Given the description of an element on the screen output the (x, y) to click on. 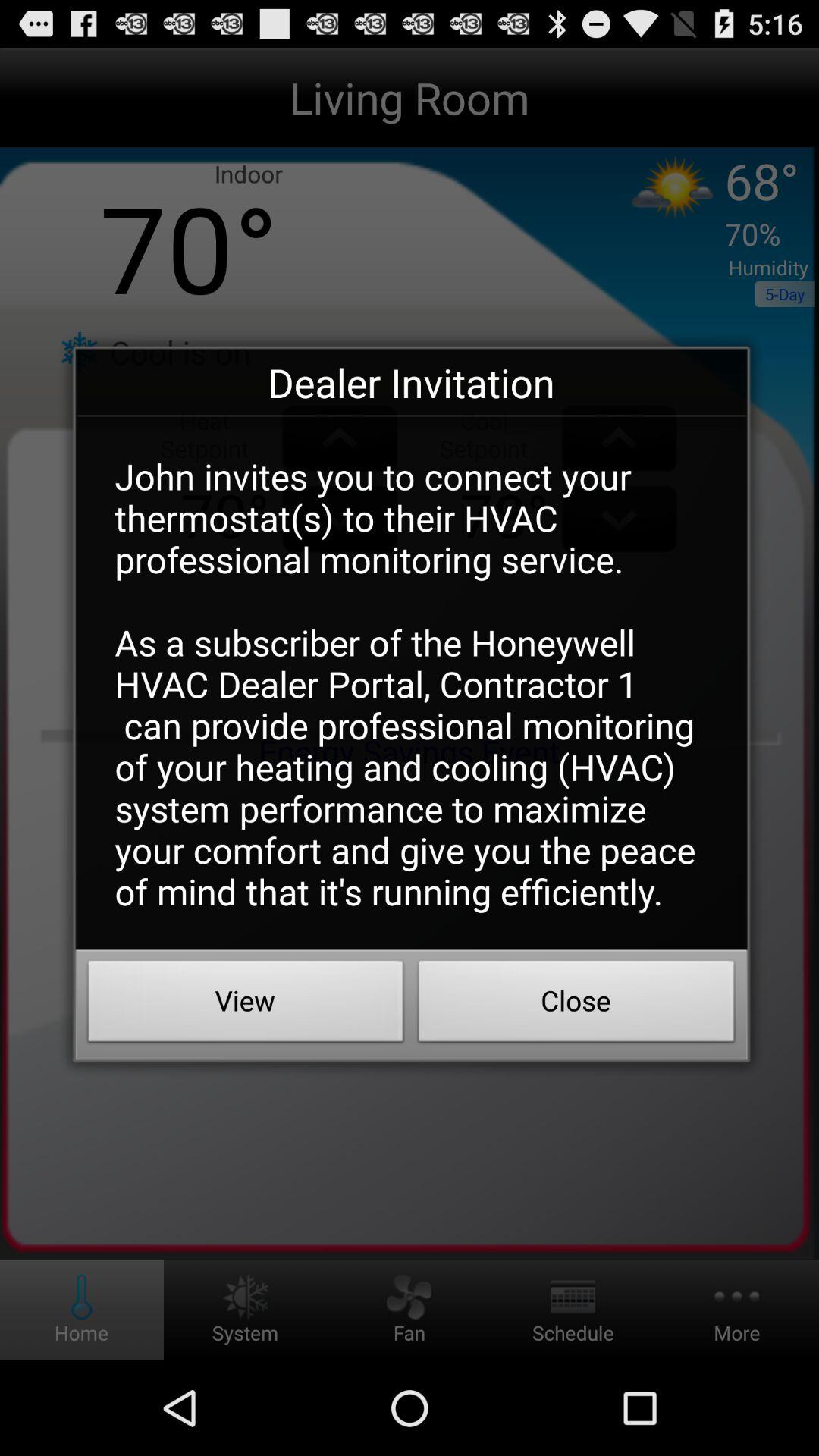
press the close item (576, 1005)
